Given the description of an element on the screen output the (x, y) to click on. 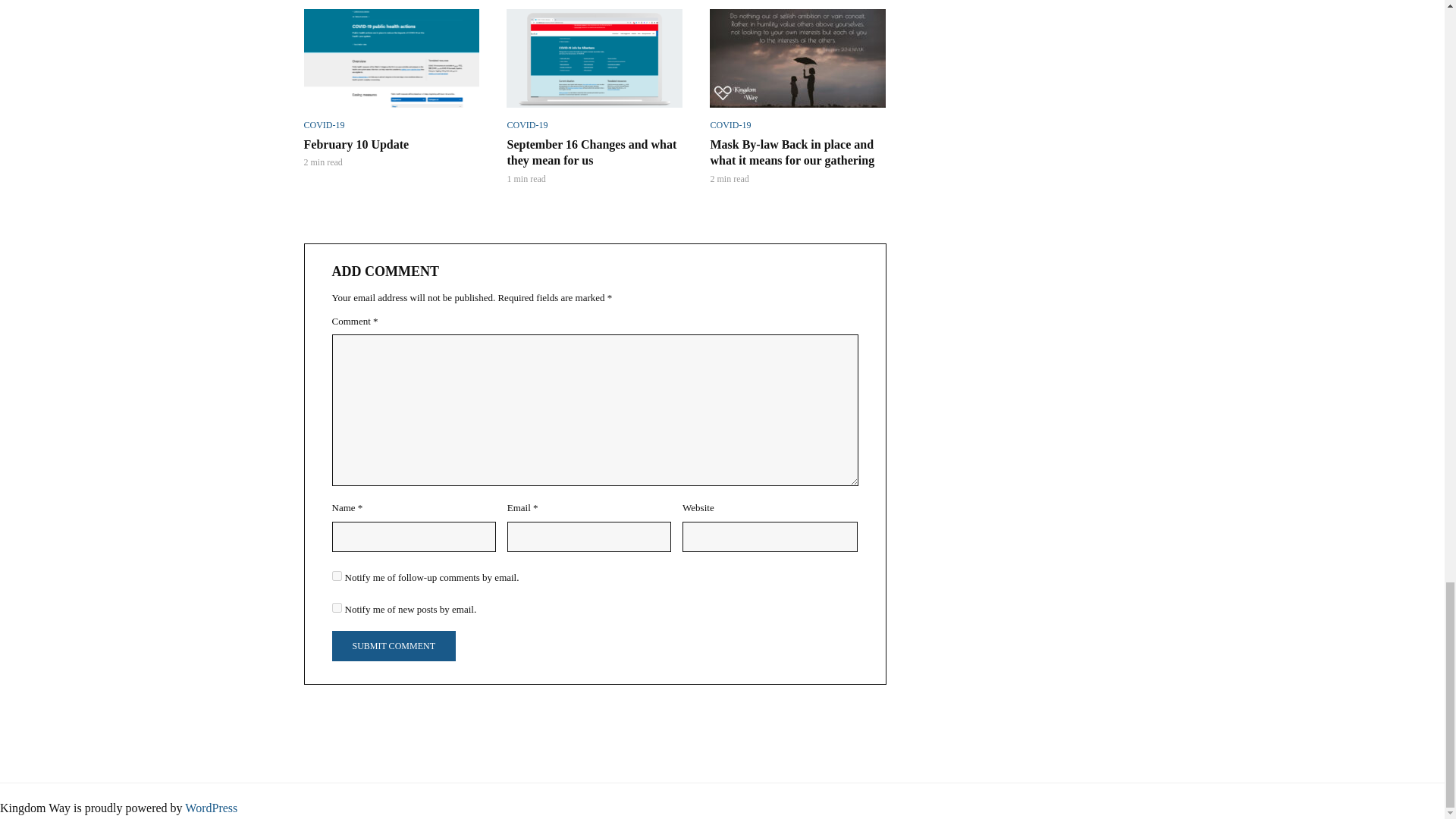
subscribe (336, 607)
September 16 Changes and what they mean for us (594, 58)
subscribe (336, 575)
February 10 Update (390, 58)
Submit Comment (393, 645)
